Given the description of an element on the screen output the (x, y) to click on. 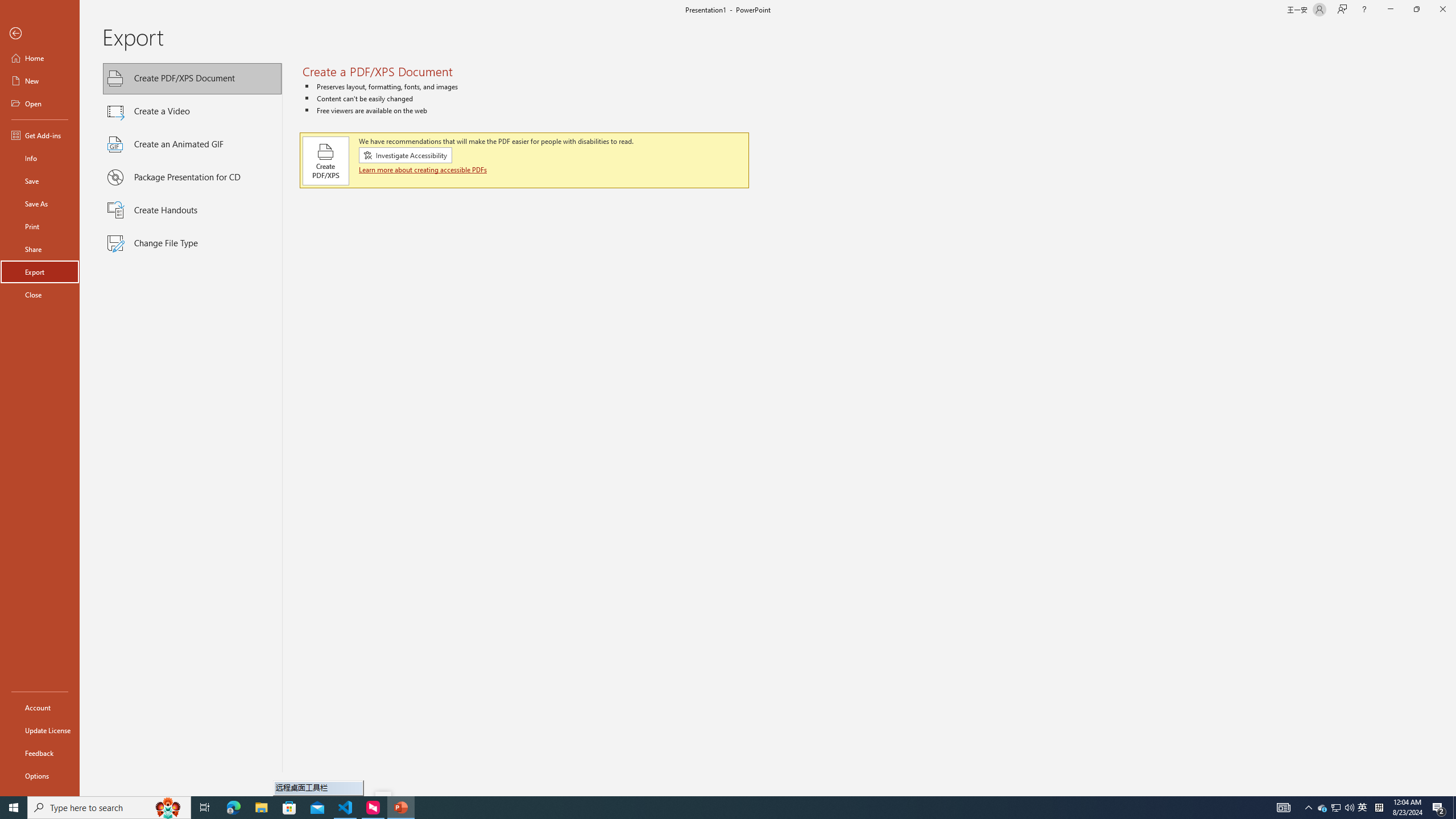
Feedback (40, 753)
Create PDF/XPS (325, 160)
Package Presentation for CD (192, 177)
